Given the description of an element on the screen output the (x, y) to click on. 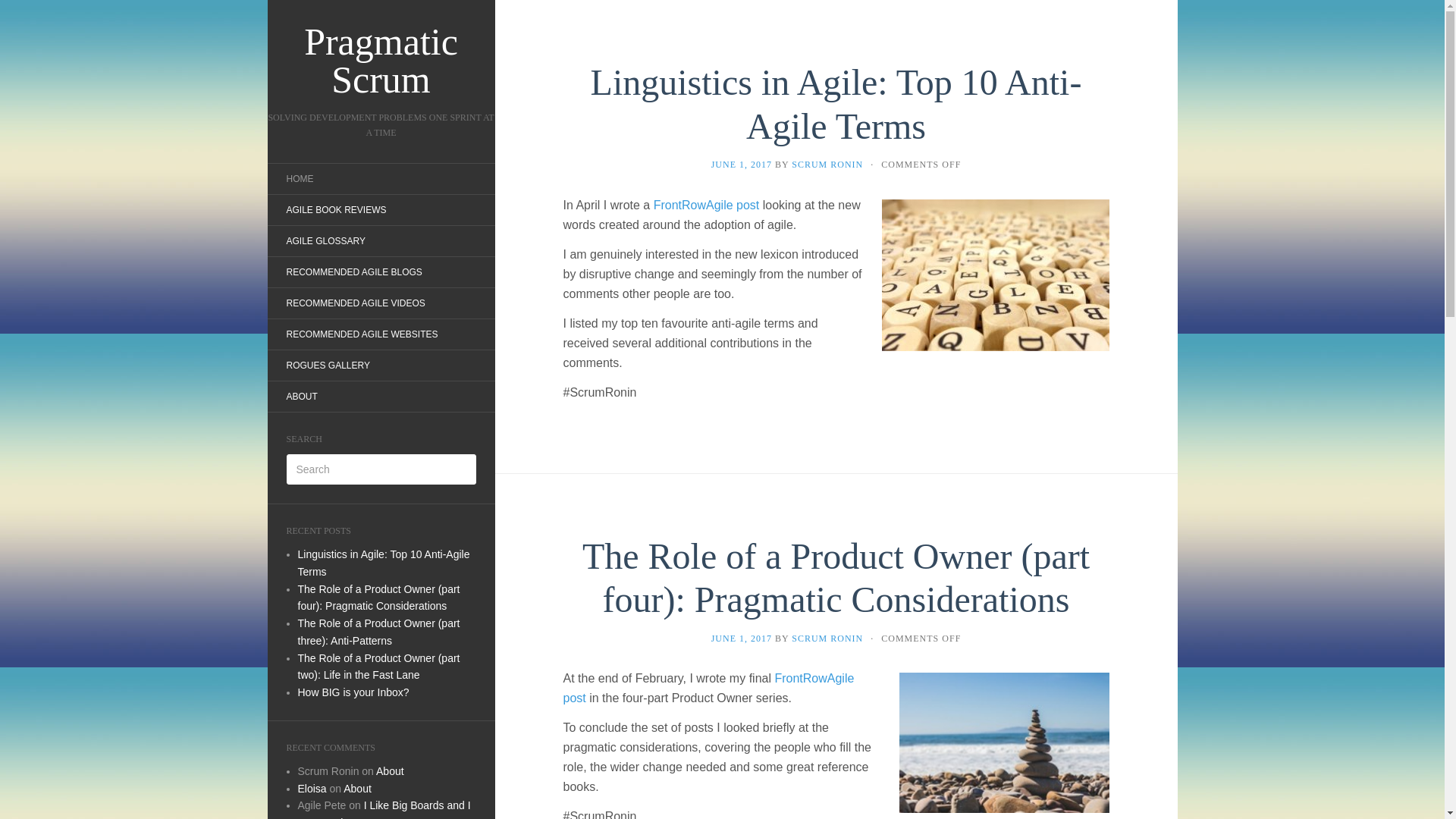
Search (22, 11)
RECOMMENDED AGILE WEBSITES (361, 334)
ROGUES GALLERY (327, 365)
HOME (298, 178)
Permalink to Linguistics in Agile: Top 10 Anti-Agile Terms (836, 104)
RECOMMENDED AGILE VIDEOS (355, 303)
Linguistics in Agile: Top 10 Anti-Agile Terms (836, 104)
Pragmatic Scrum (380, 60)
RECOMMENDED AGILE BLOGS (353, 272)
Pragmatic Scrum (380, 60)
AGILE BOOK REVIEWS (335, 209)
Eloisa (311, 788)
ABOUT (301, 396)
AGILE GLOSSARY (325, 240)
About (357, 788)
